Given the description of an element on the screen output the (x, y) to click on. 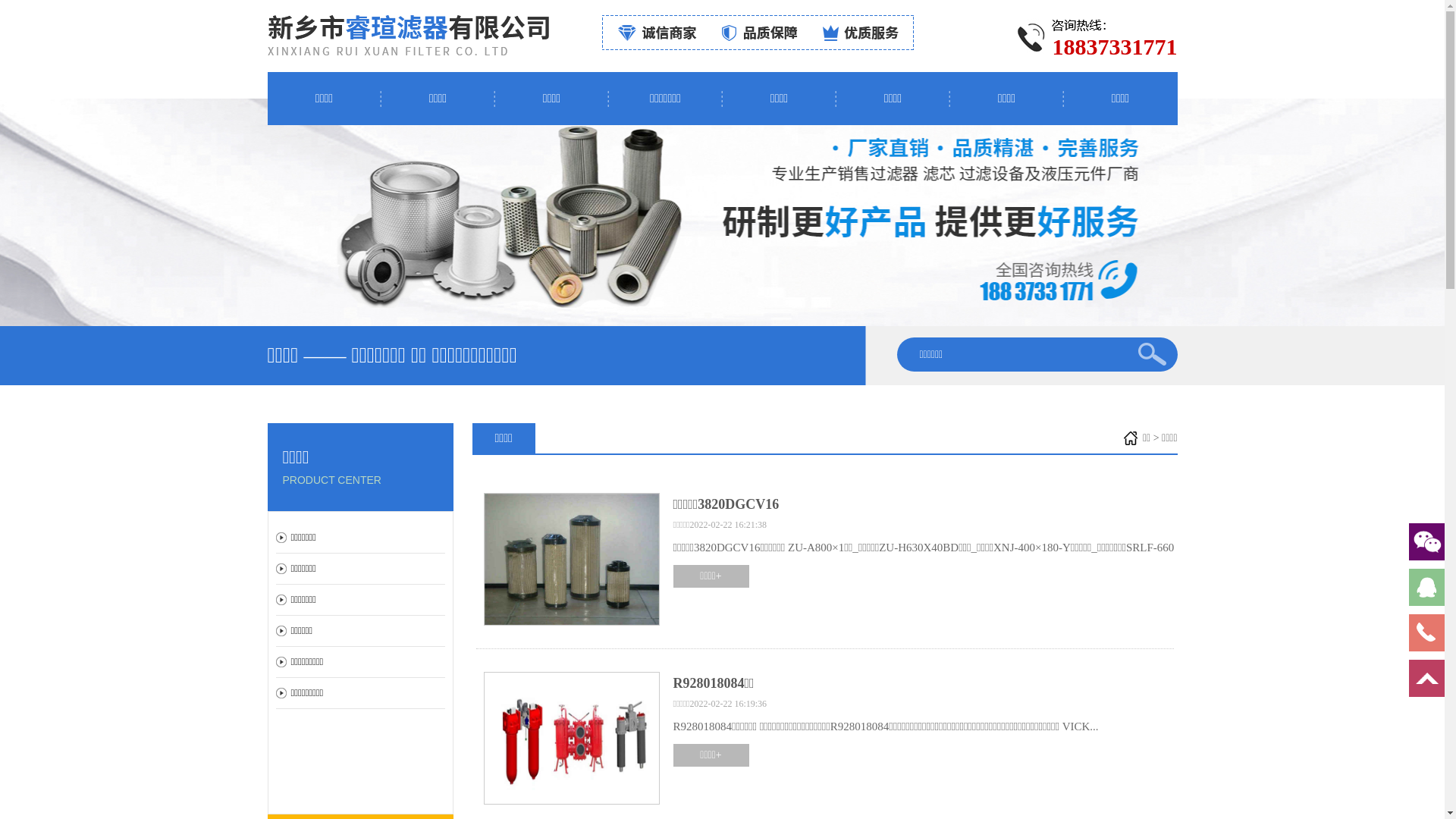
   Element type: text (1156, 351)
